Given the description of an element on the screen output the (x, y) to click on. 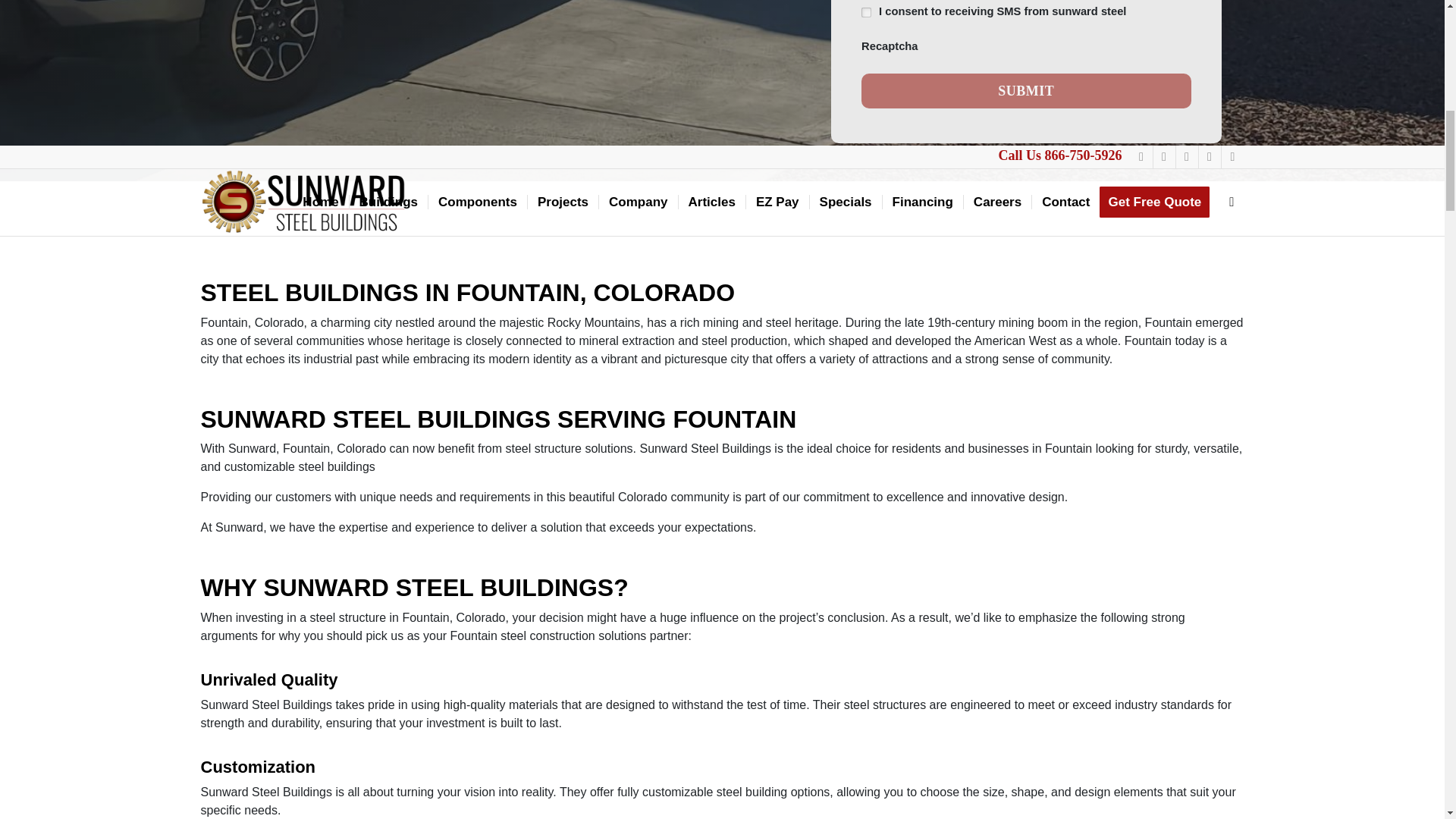
Submit (1026, 90)
1 (865, 12)
